Given the description of an element on the screen output the (x, y) to click on. 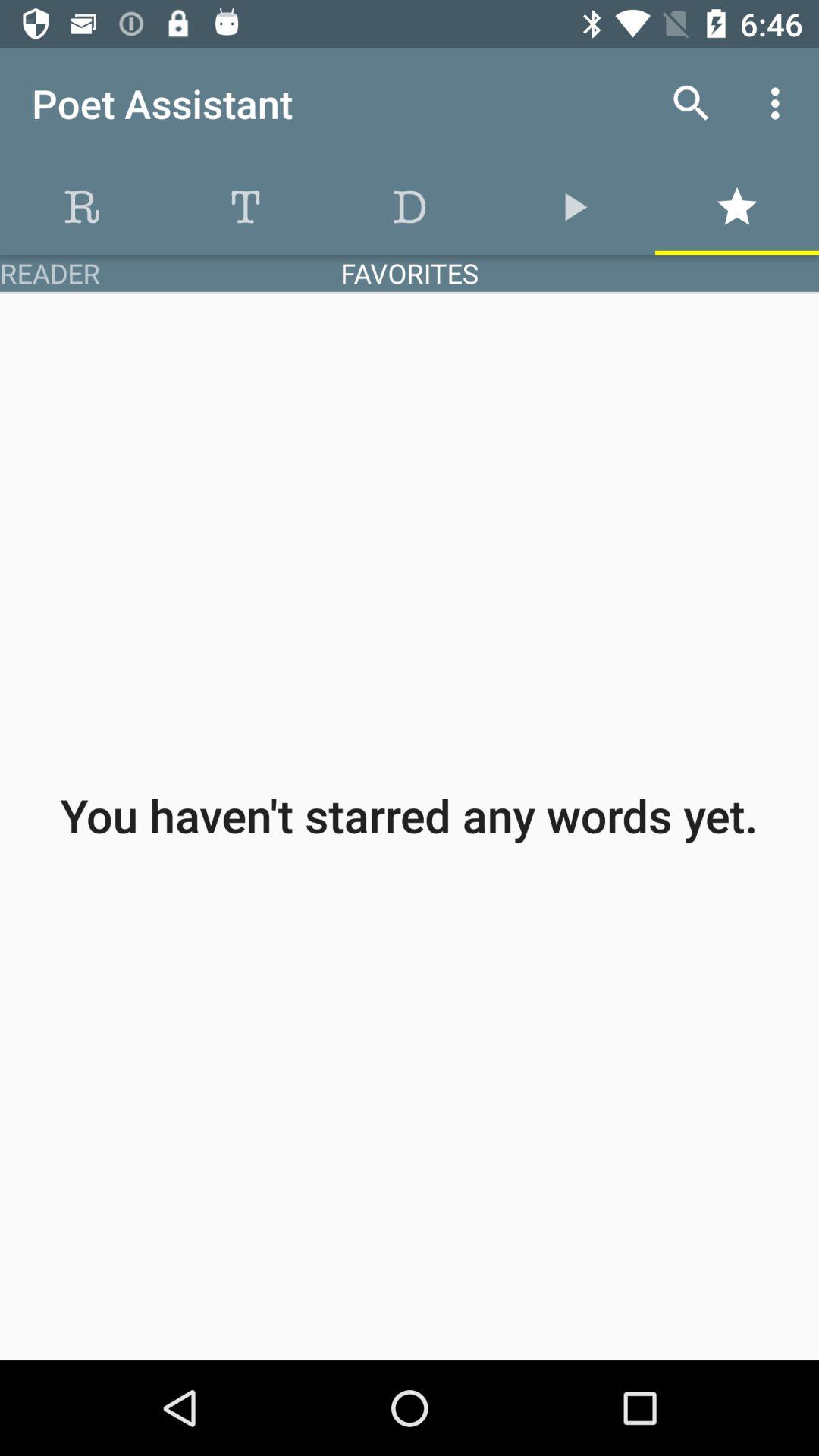
launch item to the right of poet assistant icon (691, 103)
